Given the description of an element on the screen output the (x, y) to click on. 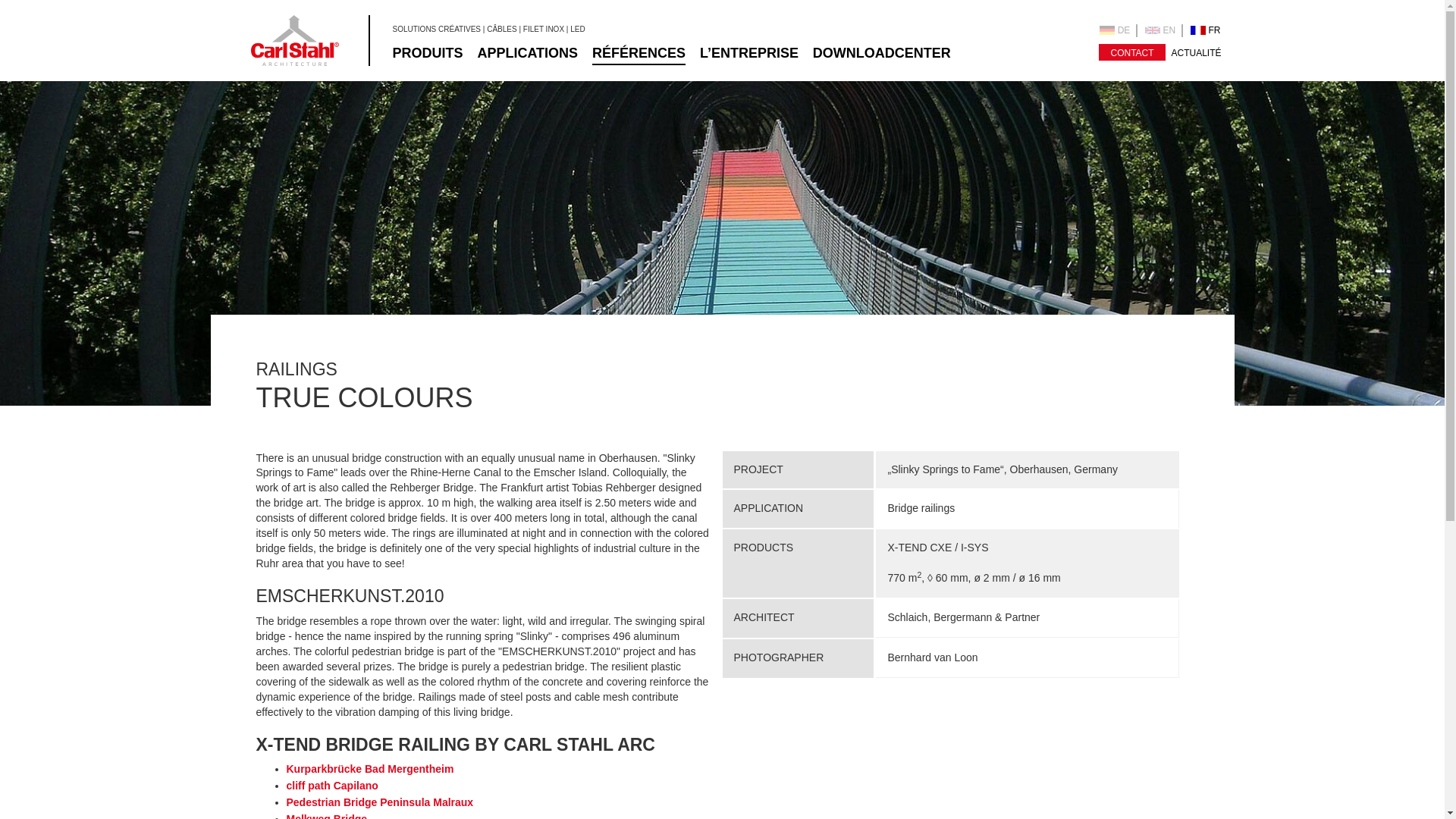
DOWNLOADCENTER (881, 52)
CarlStahl Architecture (294, 40)
EN (1163, 30)
APPLICATIONS (527, 52)
Applications (527, 52)
FR (1205, 30)
cliff path Capilano (332, 785)
Produits (428, 52)
CONTACT (1131, 52)
PRODUITS (428, 52)
Pedestrian Bridge Peninsula Malraux (380, 802)
Downloadcenter (881, 52)
Contact (1131, 52)
DE (1118, 30)
Melkweg Bridge (327, 816)
